Given the description of an element on the screen output the (x, y) to click on. 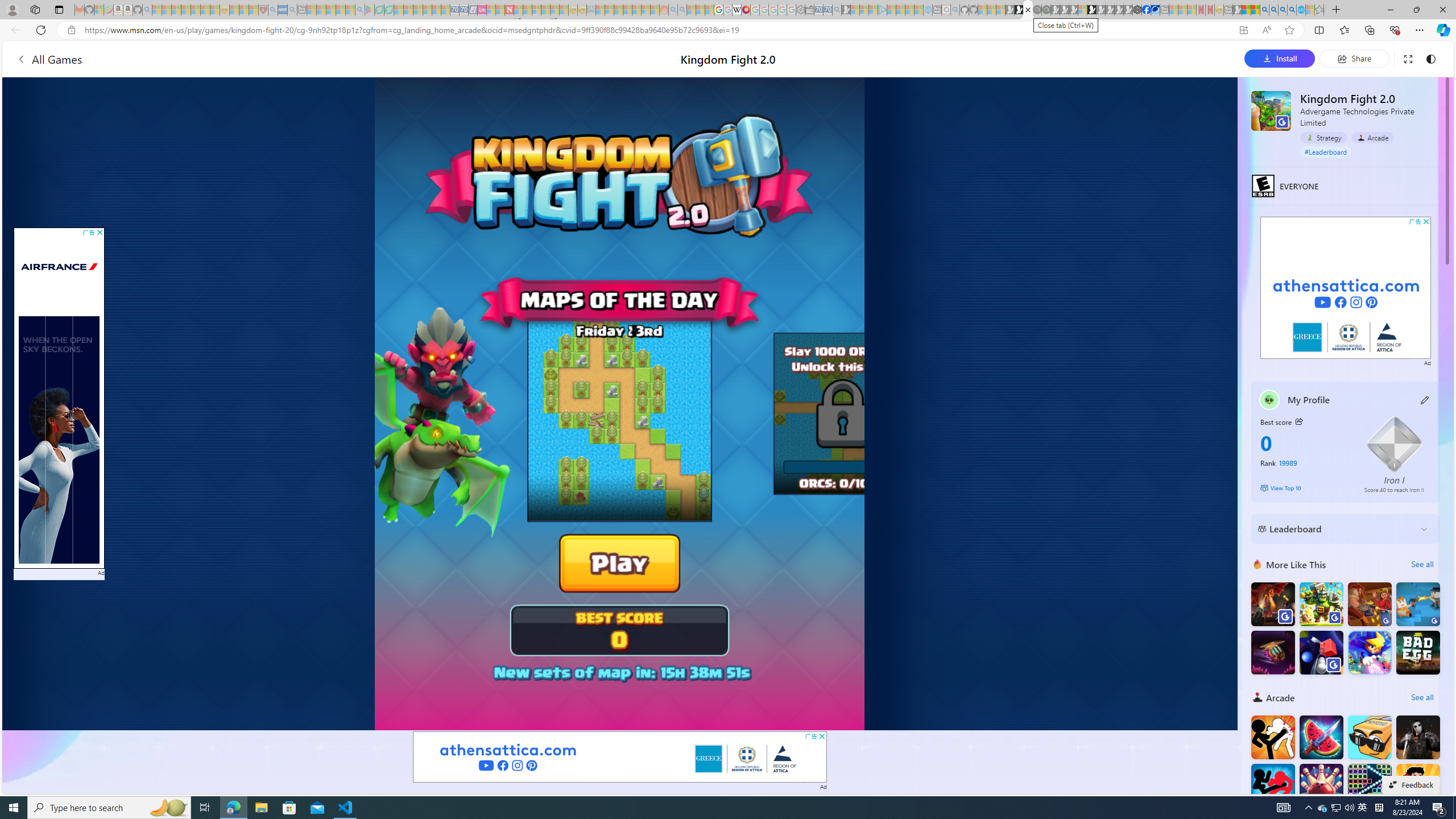
Kinda Frugal - MSN - Sleeping (636, 9)
Dragon Annihilation (1273, 603)
Class: control (1231, 434)
Fruit Chopper (1321, 737)
New Report Confirms 2023 Was Record Hot | Watch - Sleeping (195, 9)
